Given the description of an element on the screen output the (x, y) to click on. 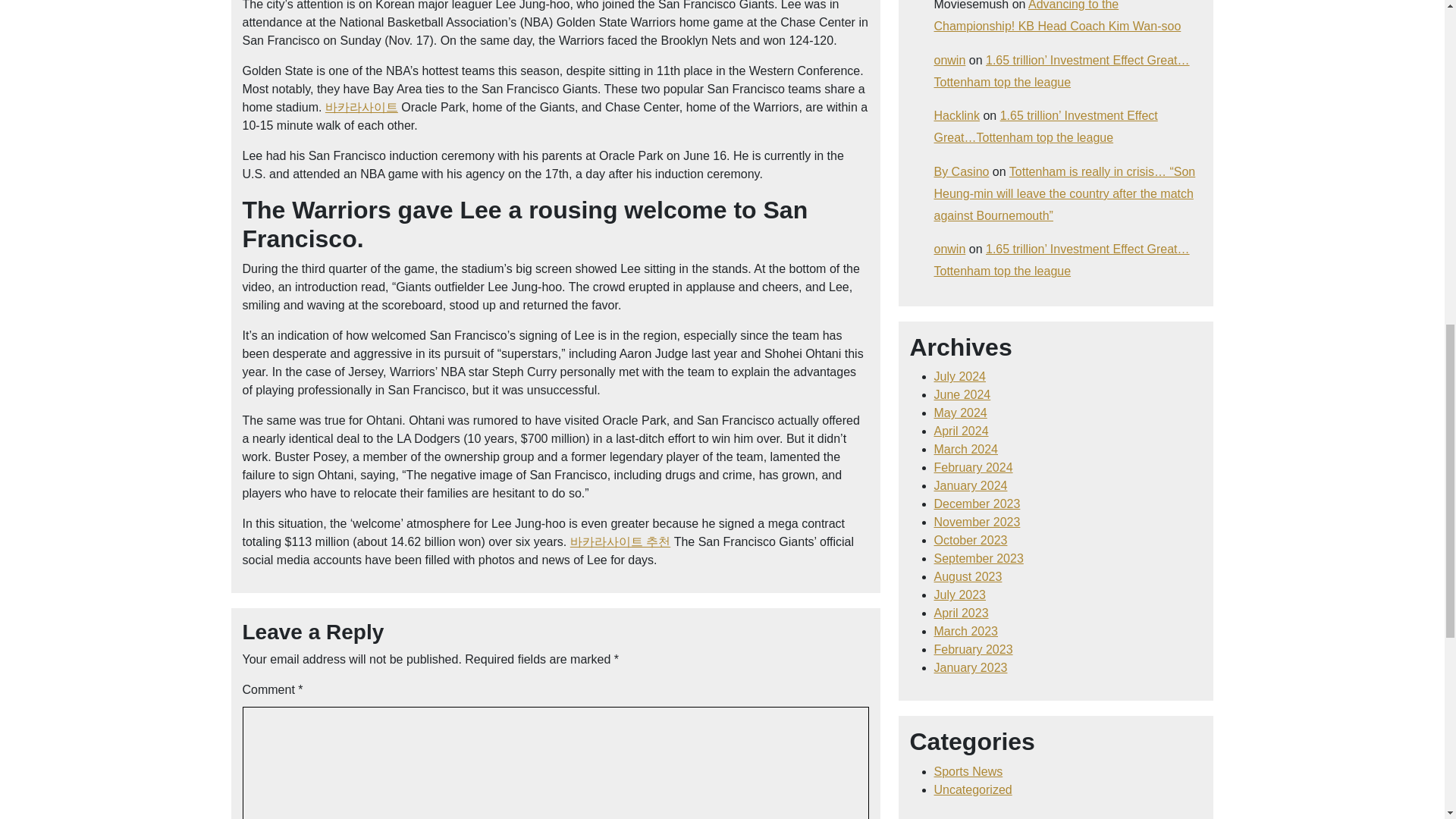
Advancing to the Championship! KB Head Coach Kim Wan-soo (1057, 16)
February 2024 (973, 467)
June 2024 (962, 394)
July 2023 (960, 594)
March 2024 (966, 449)
September 2023 (978, 558)
October 2023 (970, 540)
August 2023 (968, 576)
April 2024 (961, 431)
By Casino (962, 171)
May 2024 (960, 412)
onwin (950, 60)
December 2023 (977, 503)
Hacklink (956, 115)
January 2024 (970, 485)
